Given the description of an element on the screen output the (x, y) to click on. 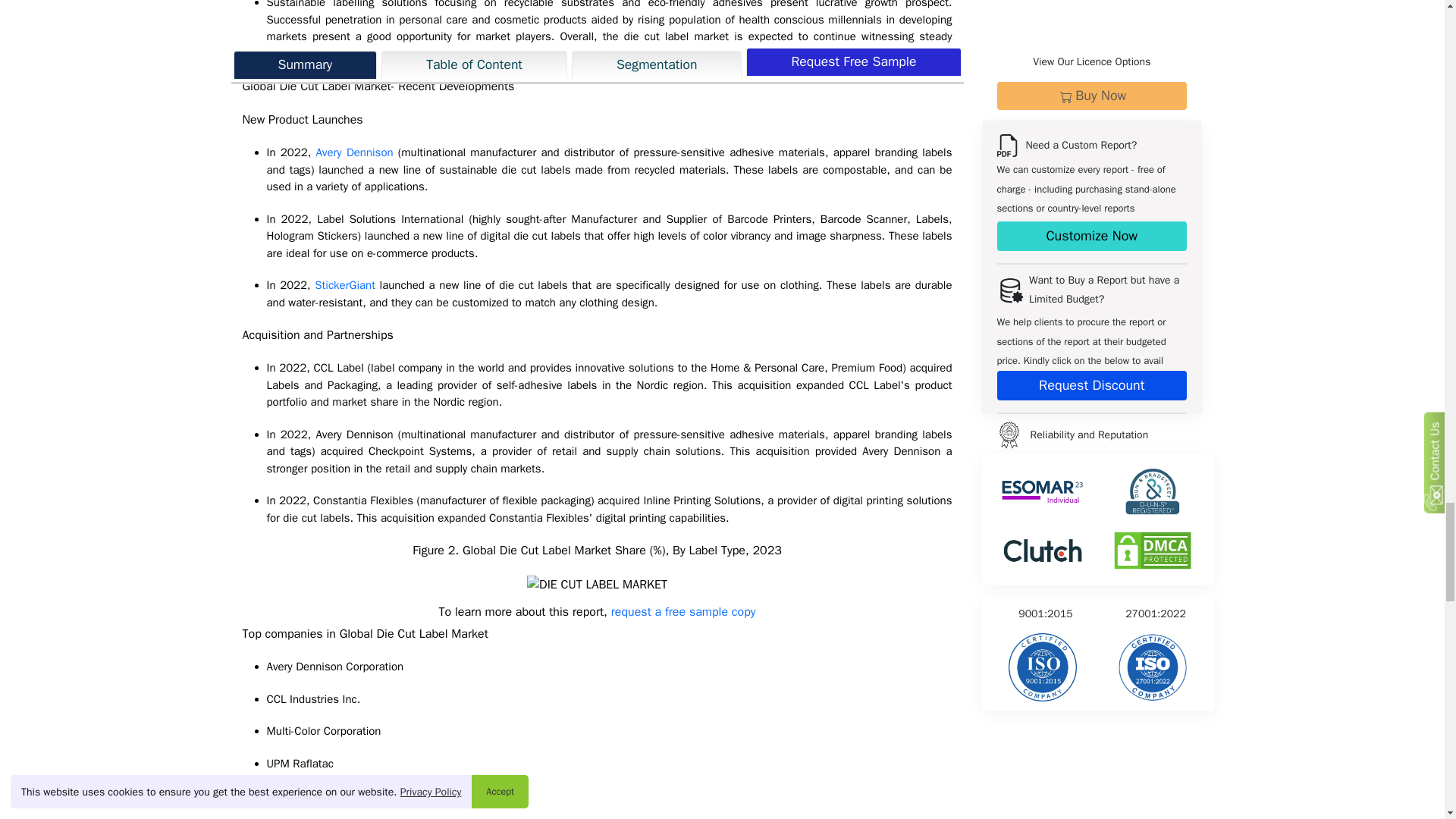
DIE CUT LABEL MARKET (596, 584)
